Given the description of an element on the screen output the (x, y) to click on. 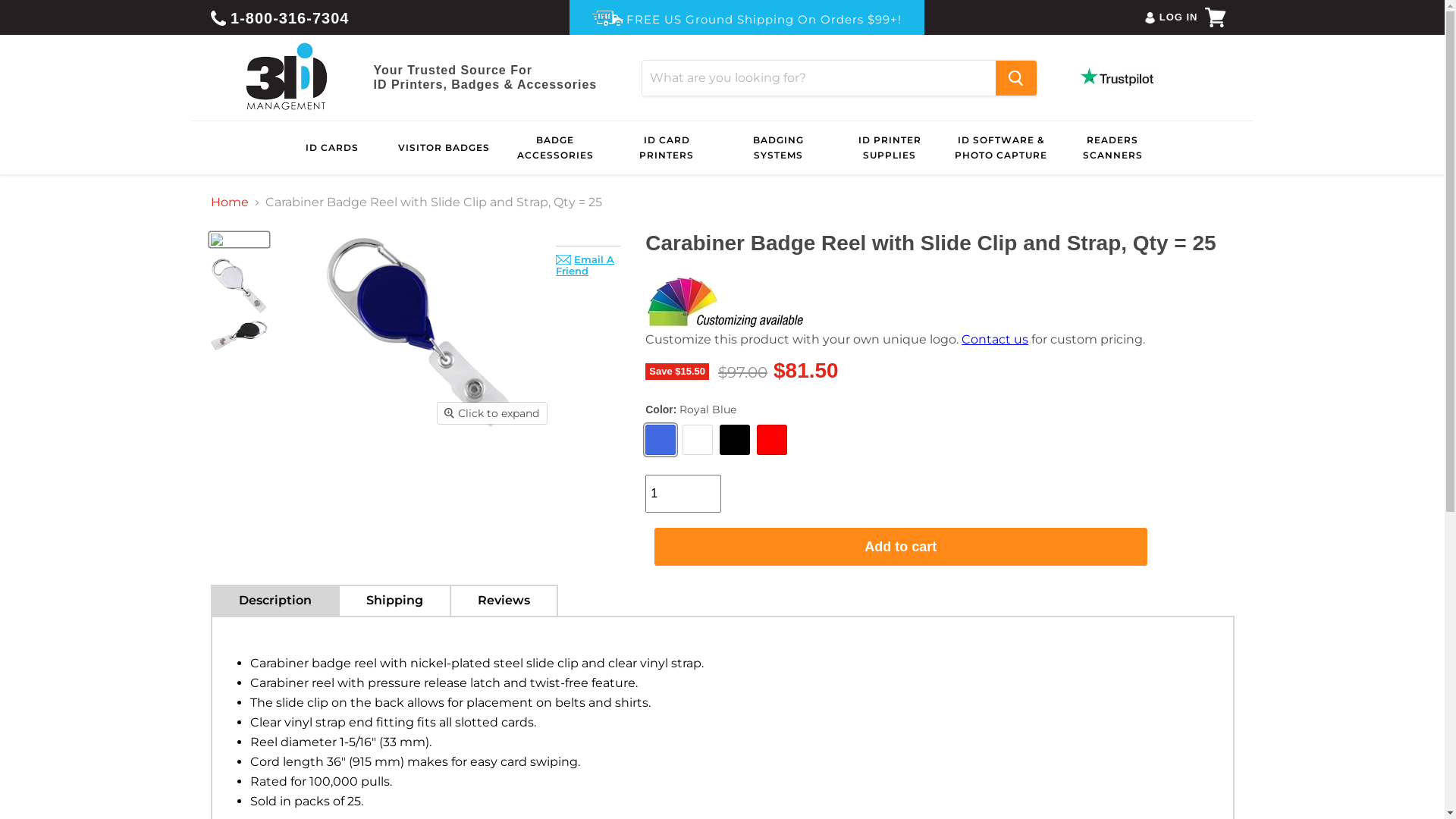
VIEW CART Element type: text (1215, 17)
ID CARD PRINTERS Element type: text (666, 147)
BADGE ACCESSORIES Element type: text (554, 147)
Home Element type: text (229, 202)
READERS SCANNERS Element type: text (1112, 147)
Email A Friend Element type: text (584, 264)
ID CARDS Element type: text (331, 147)
Contact us Element type: text (994, 339)
BADGING SYSTEMS Element type: text (777, 147)
VISITOR BADGES Element type: text (443, 147)
Click to expand Element type: text (491, 412)
1-800-316-7304 Element type: text (279, 17)
Add to cart Element type: text (900, 546)
LOG IN Element type: text (1178, 15)
ID PRINTER SUPPLIES Element type: text (889, 147)
ID SOFTWARE & PHOTO CAPTURE Element type: text (1000, 147)
